Given the description of an element on the screen output the (x, y) to click on. 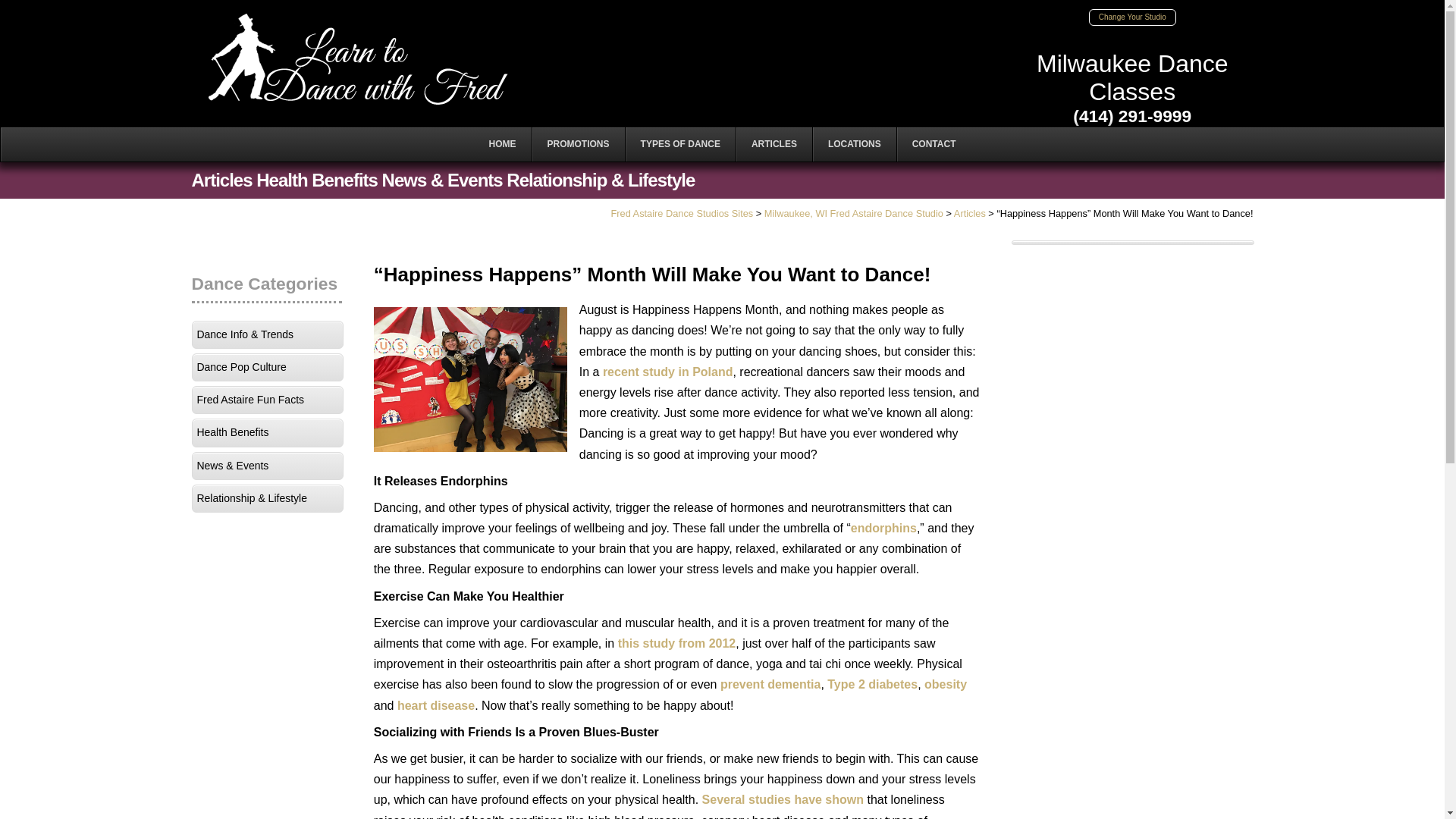
Type 2 diabetes (872, 684)
Go to the Articles category archives. (969, 213)
Dance Pop Culture (266, 366)
PROMOTIONS (577, 144)
obesity (945, 684)
Go to Fred Astaire Dance Studios Sites. (681, 213)
prevent dementia (770, 684)
Fred Astaire Dance Studios Sites (681, 213)
Health Benefits (266, 432)
endorphins (883, 527)
